Given the description of an element on the screen output the (x, y) to click on. 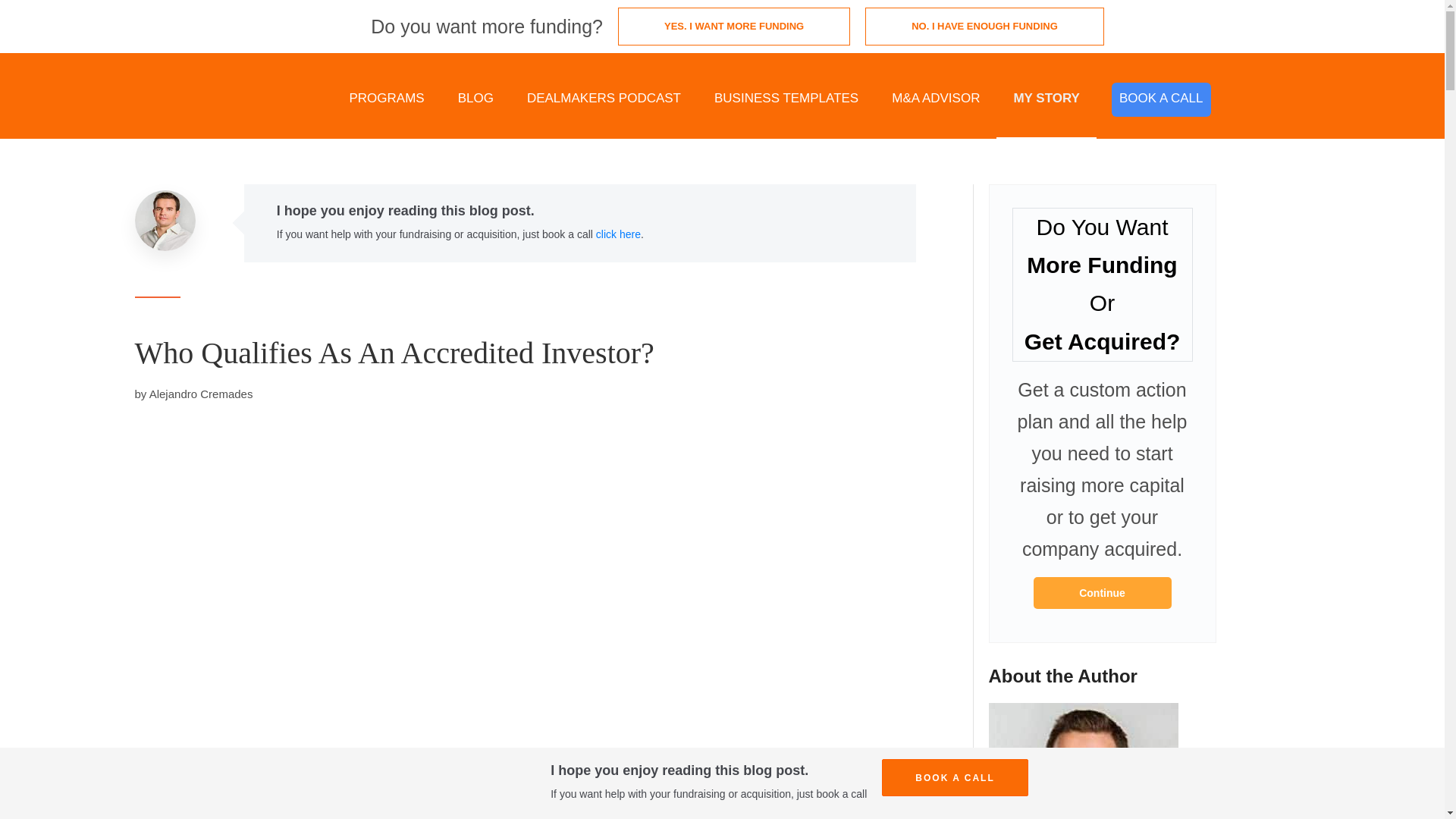
NO. I HAVE ENOUGH FUNDING (983, 26)
Alejandro Cremades (201, 393)
PROGRAMS (386, 99)
MY STORY (1045, 99)
click here (617, 234)
DEALMAKERS PODCAST (604, 99)
Art of Startup Fundraising (1101, 593)
YES. I WANT MORE FUNDING (733, 26)
Posts by Alejandro Cremades (201, 393)
BOOK A CALL (1161, 99)
